Given the description of an element on the screen output the (x, y) to click on. 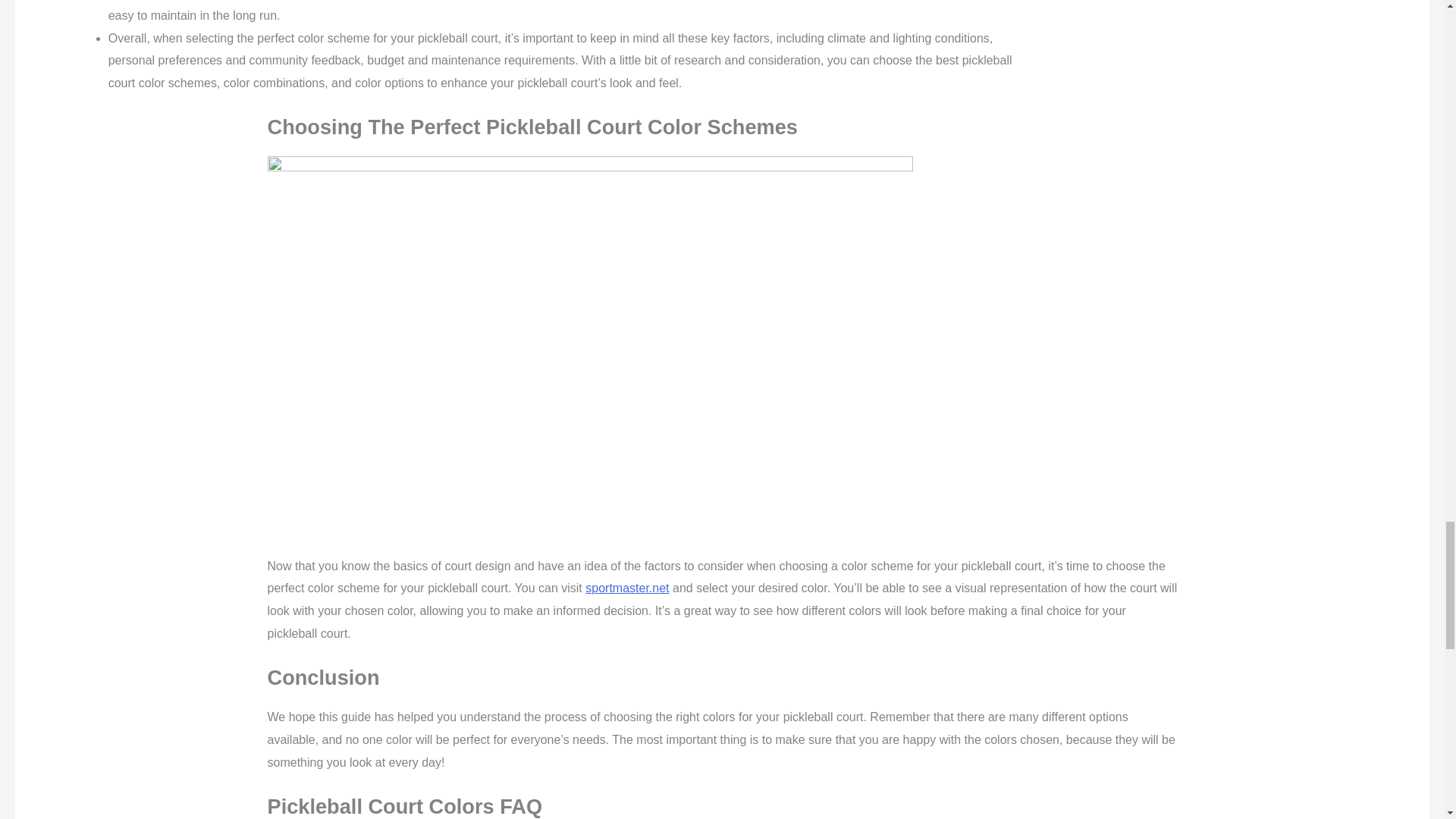
sportmaster.net (626, 587)
